Given the description of an element on the screen output the (x, y) to click on. 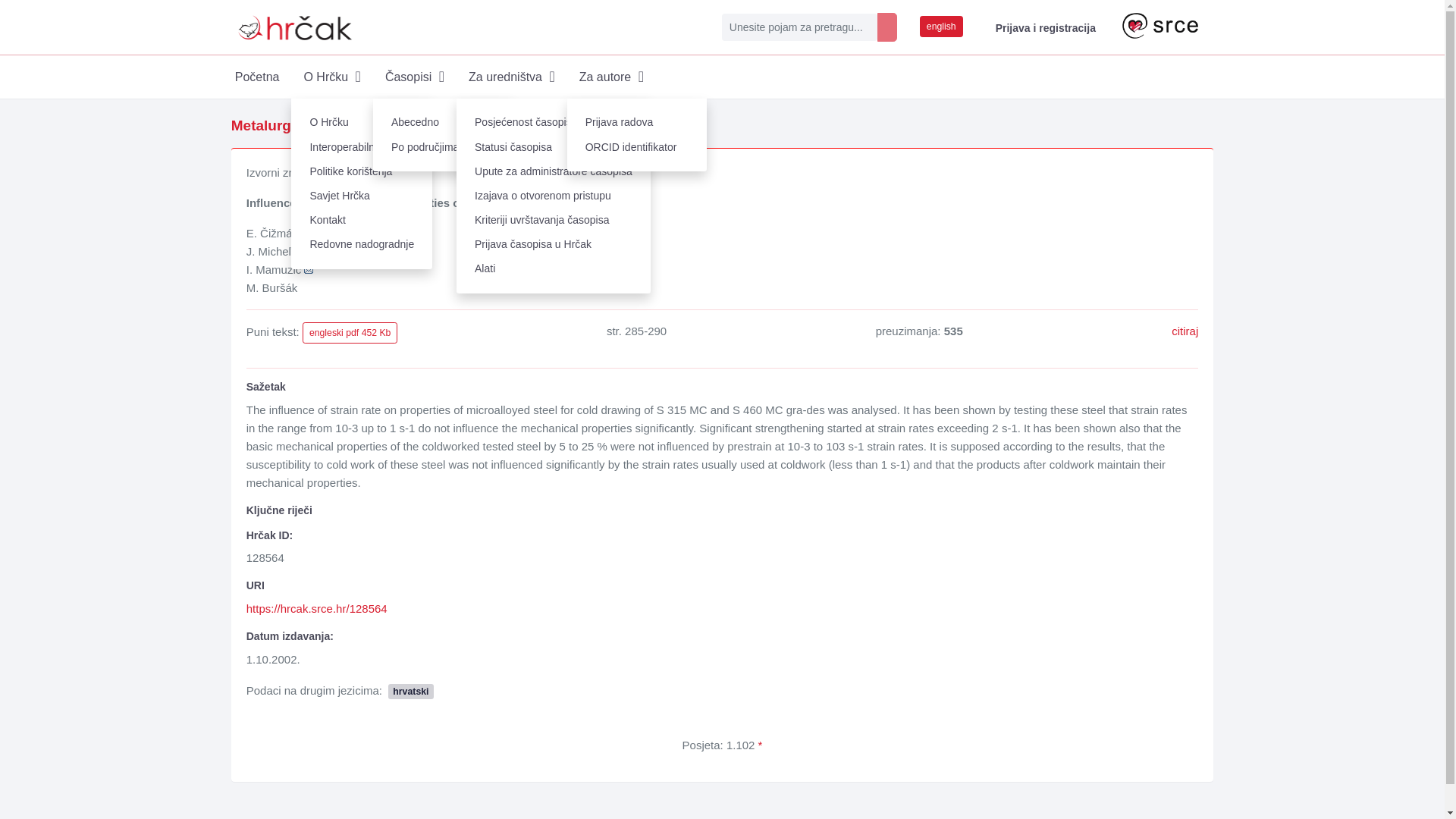
Za autore (611, 76)
citiraj (1185, 330)
mail (308, 269)
ORCID identifikator (636, 146)
hrvatski (410, 689)
Abecedno (442, 122)
Prijava radova (636, 122)
english (941, 25)
Prijava i registracija (1042, 27)
engleski pdf 452 Kb (349, 332)
